Given the description of an element on the screen output the (x, y) to click on. 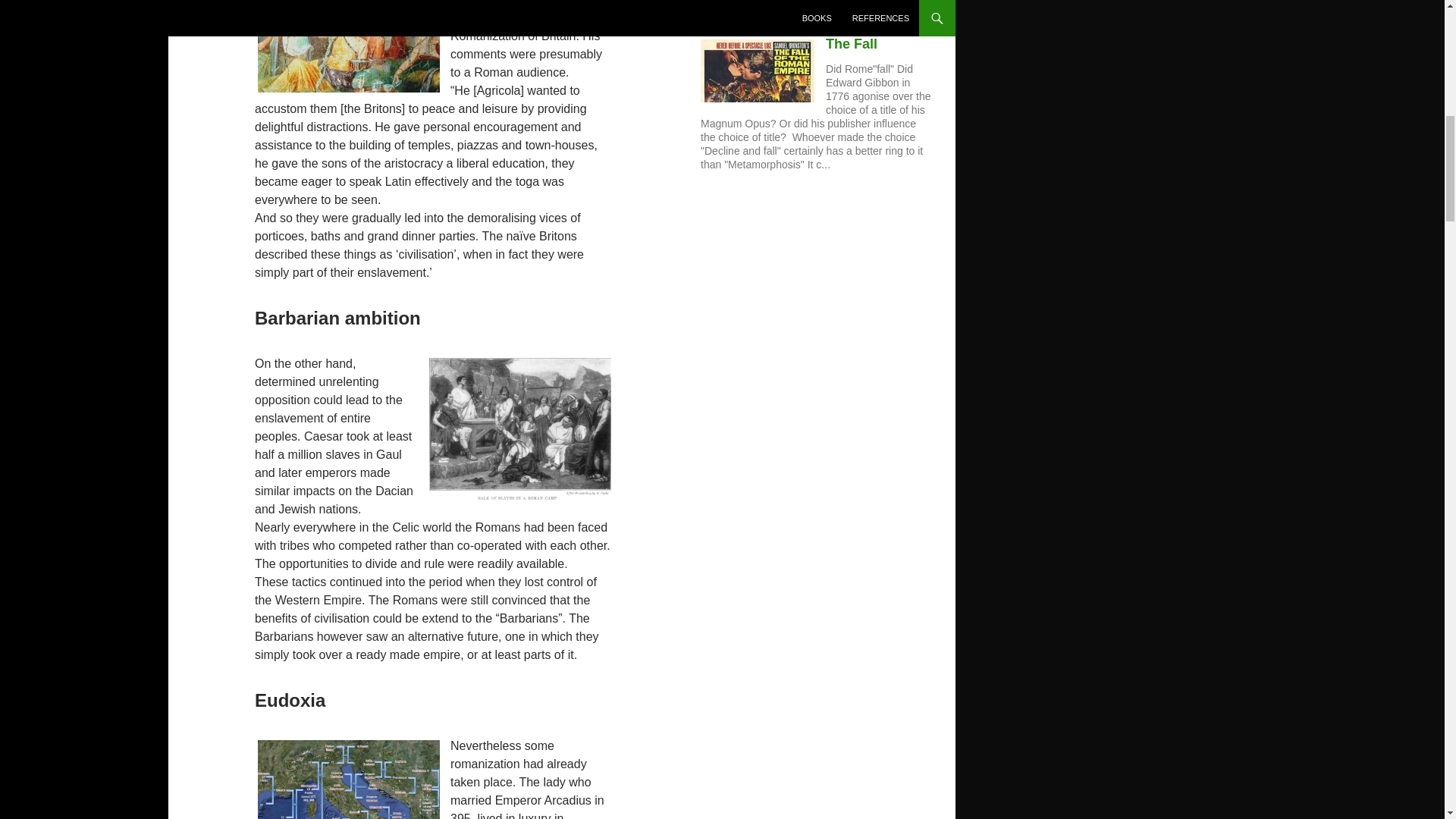
The Fall (851, 43)
roman-slaves (520, 429)
clovis-relations (348, 778)
